Given the description of an element on the screen output the (x, y) to click on. 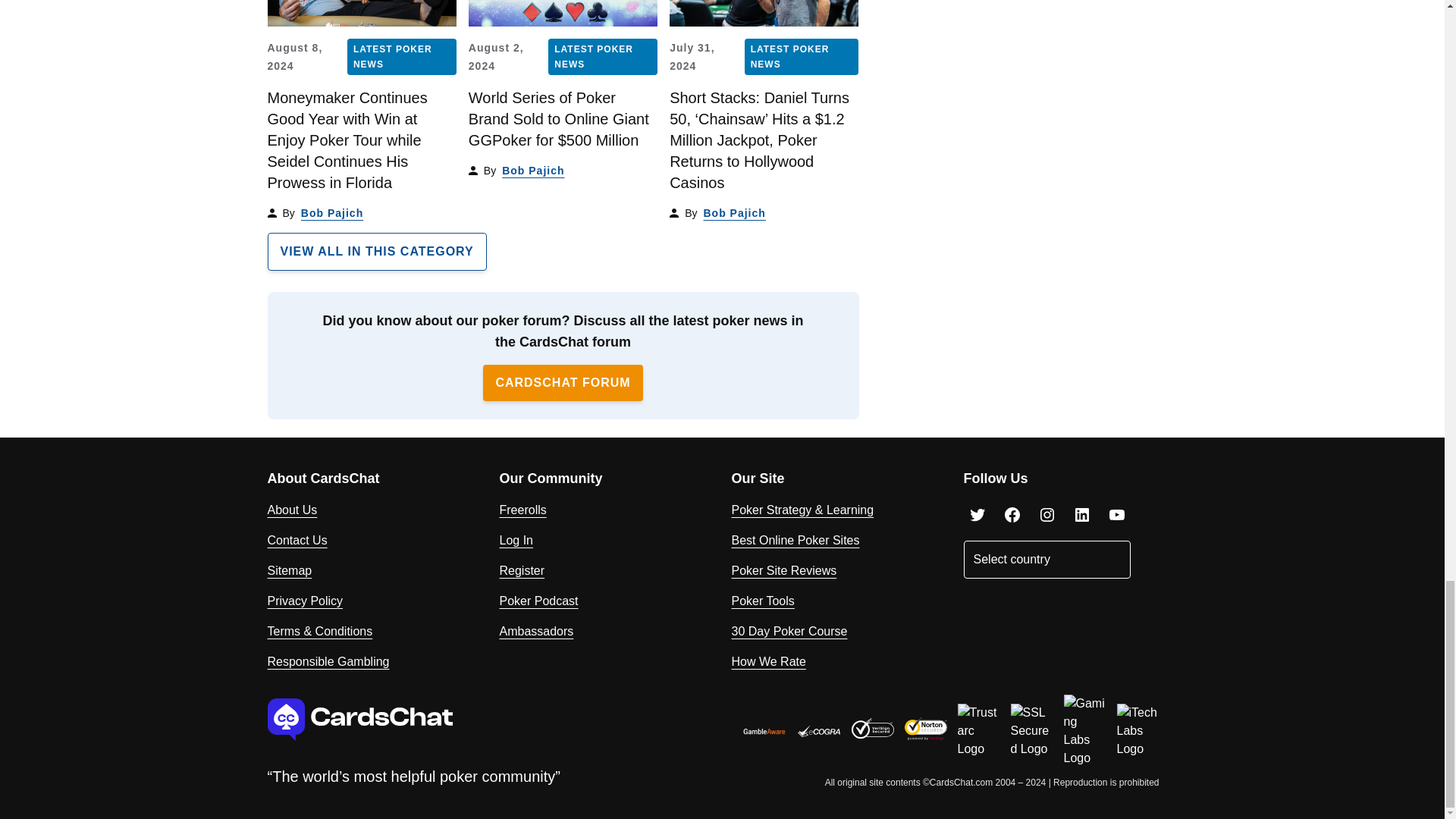
Norton Secured Logo (925, 728)
eCogra Logo (818, 730)
BeGambleAware Logo (764, 730)
VeriSign Secured Logo (871, 728)
